Given the description of an element on the screen output the (x, y) to click on. 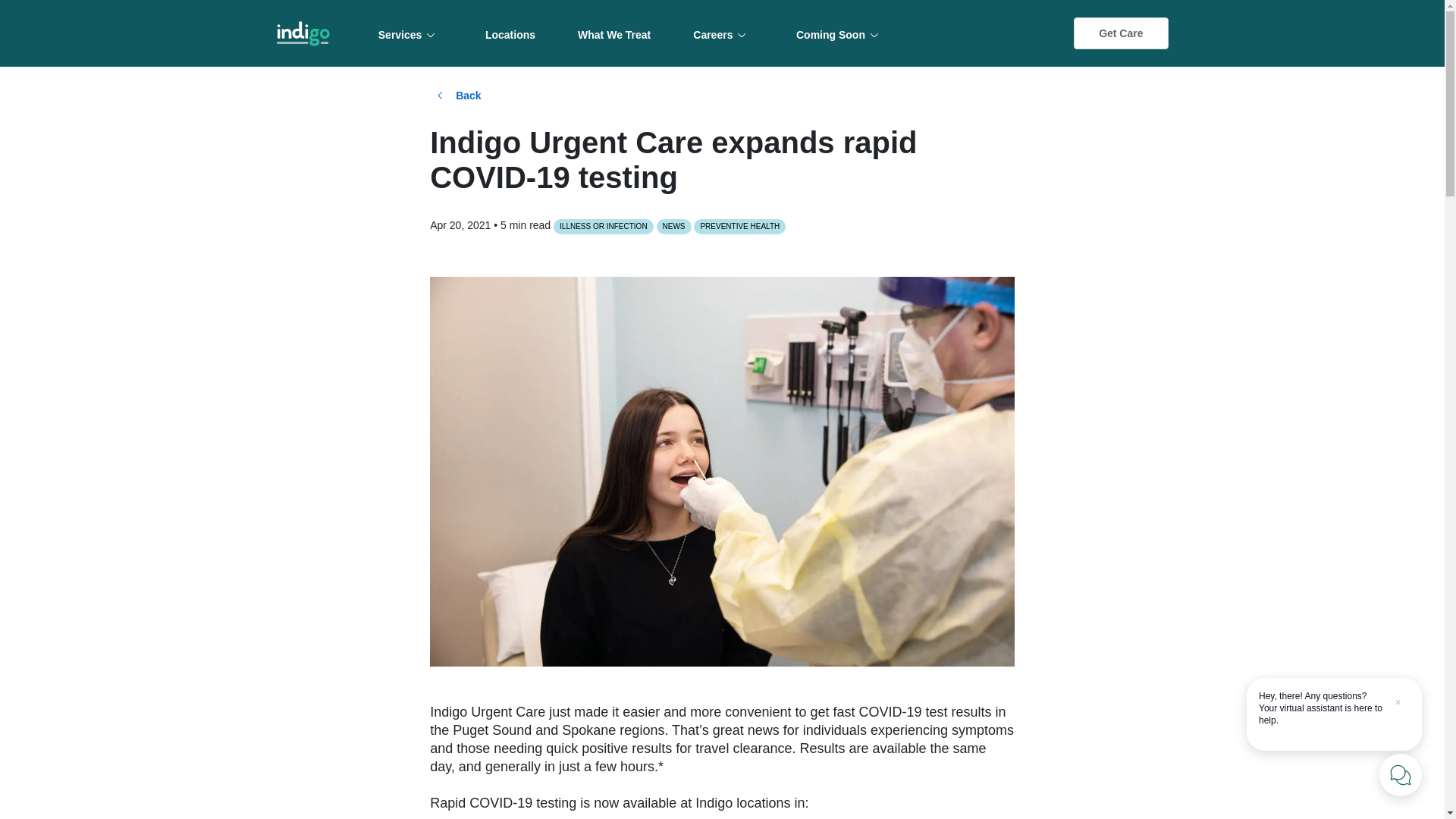
PREVENTIVE HEALTH (739, 225)
Coming Soon (841, 33)
Back (458, 95)
ILLNESS OR INFECTION (603, 225)
Get Care (1120, 33)
What We Treat (614, 33)
Get Care (1120, 33)
Careers (723, 33)
NEWS (673, 225)
Locations (510, 33)
